Given the description of an element on the screen output the (x, y) to click on. 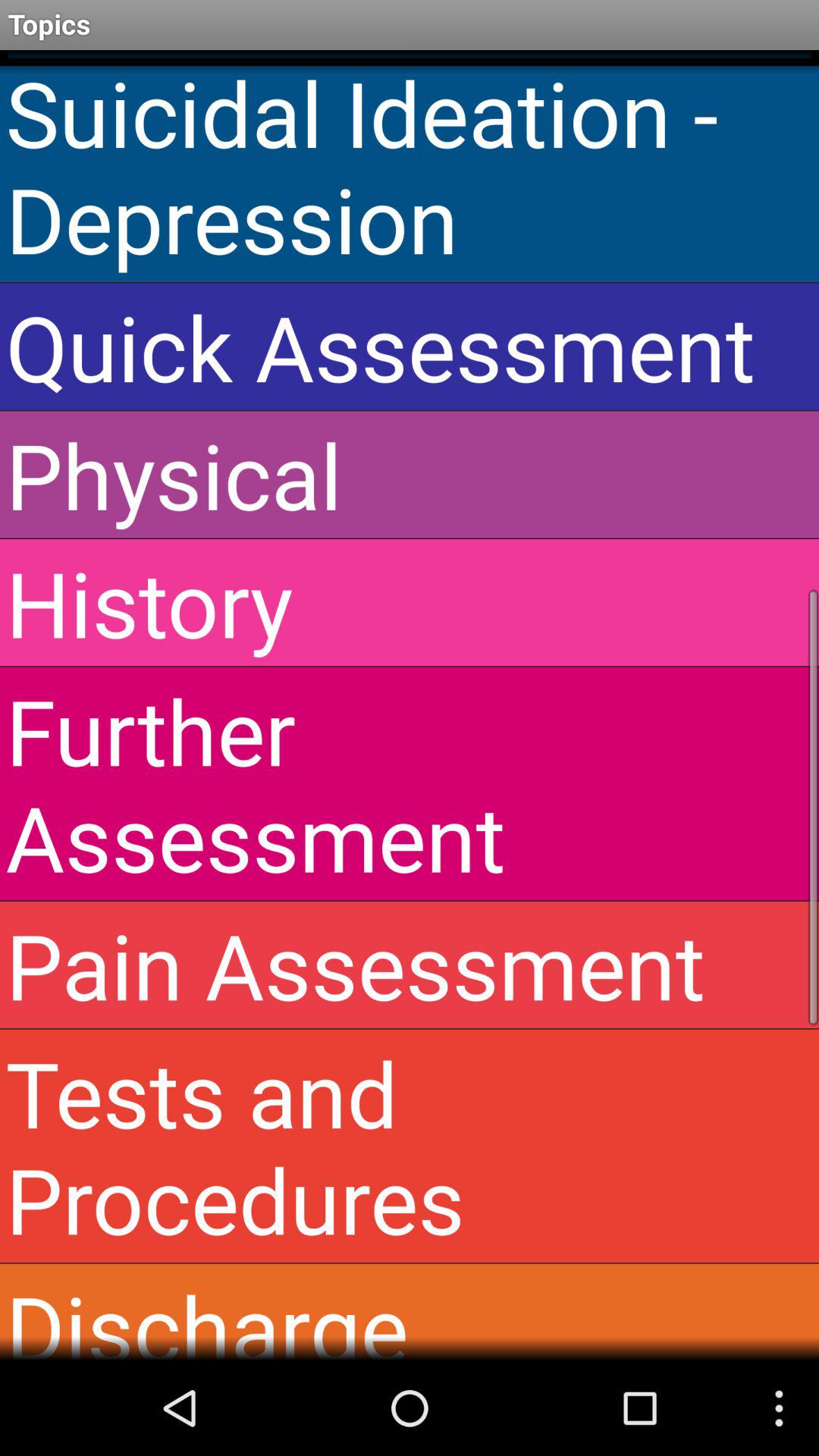
jump to tests and procedures app (409, 1145)
